Given the description of an element on the screen output the (x, y) to click on. 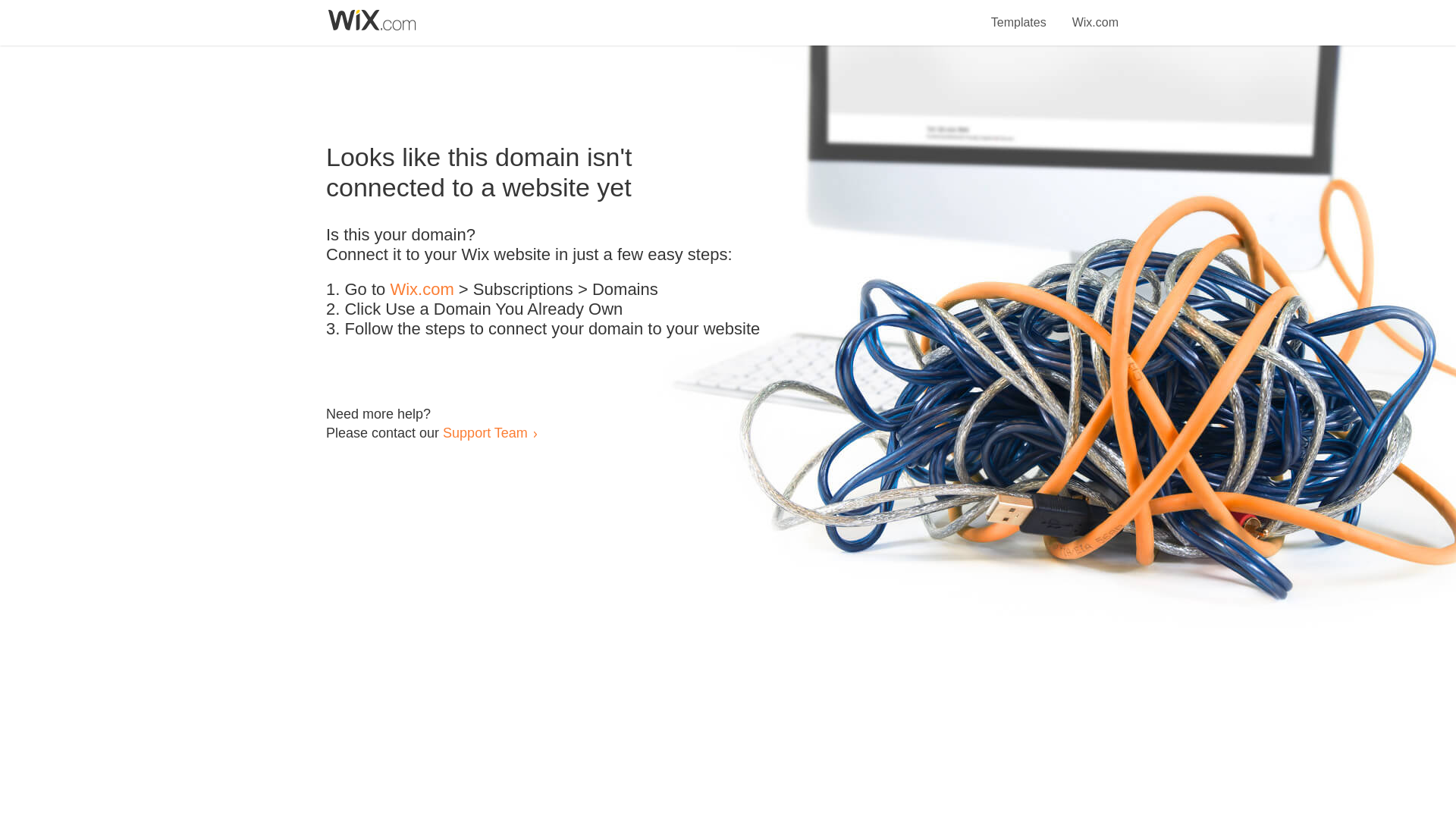
Wix.com (421, 289)
Templates (1018, 14)
Support Team (484, 432)
Wix.com (1095, 14)
